Given the description of an element on the screen output the (x, y) to click on. 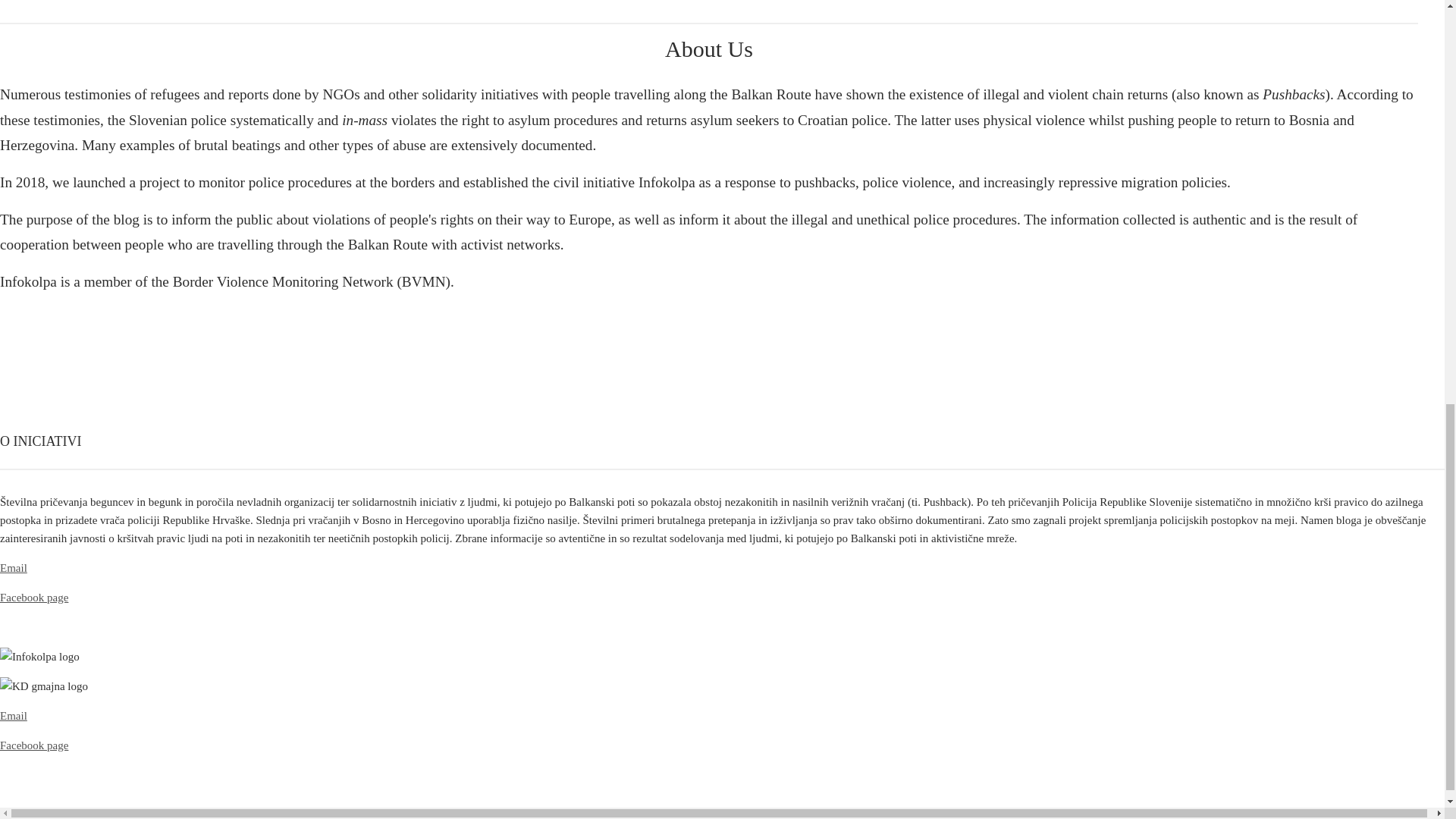
Facebook page (34, 745)
Facebook page (34, 597)
Email (13, 715)
Email (13, 567)
